Given the description of an element on the screen output the (x, y) to click on. 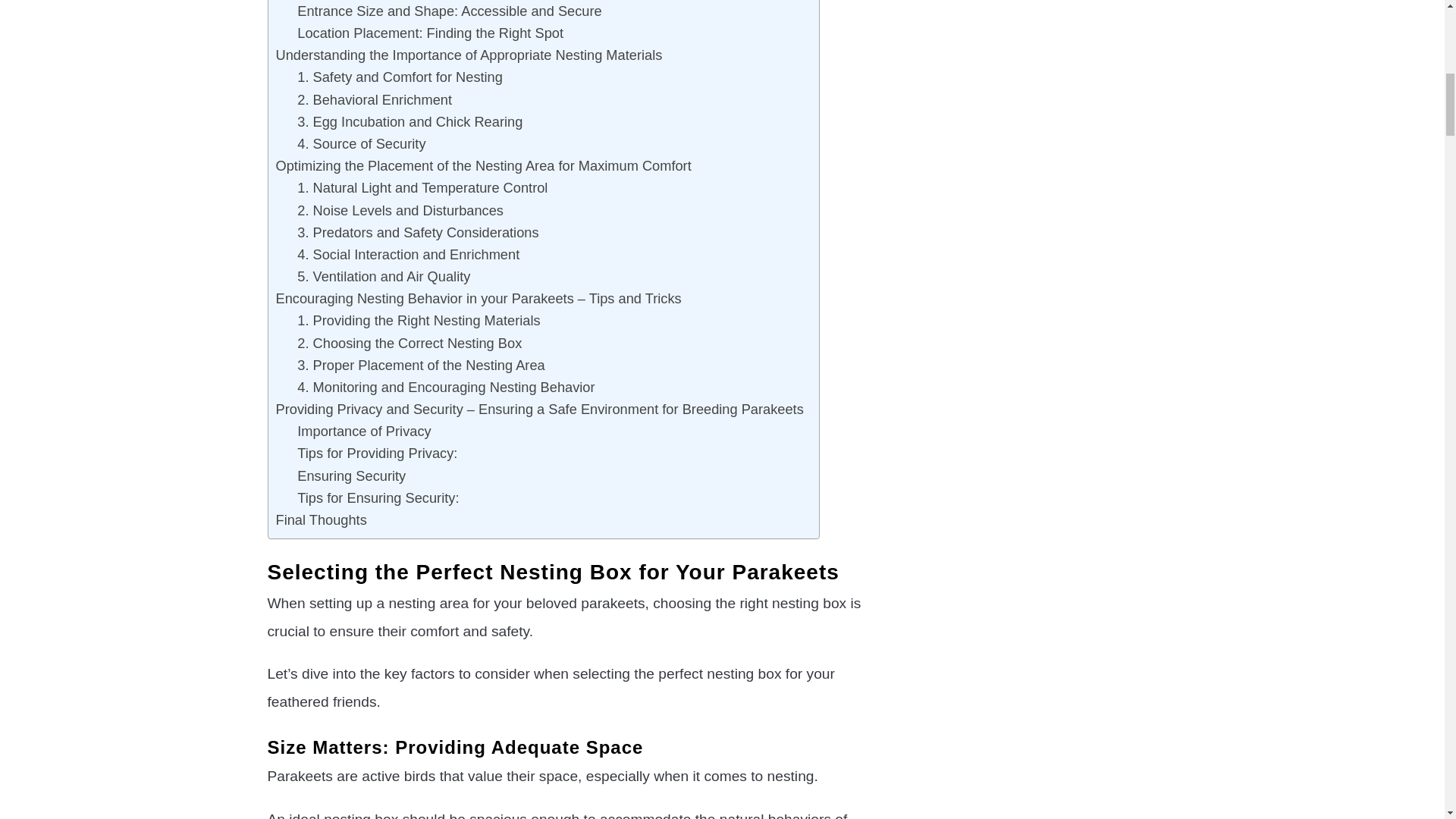
4. Source of Security (361, 143)
1. Safety and Comfort for Nesting (399, 76)
2. Choosing the Correct Nesting Box (409, 342)
2. Behavioral Enrichment (374, 99)
3. Egg Incubation and Chick Rearing (409, 121)
2. Noise Levels and Disturbances (400, 209)
Location Placement: Finding the Right Spot (430, 33)
2. Noise Levels and Disturbances (400, 209)
Entrance Size and Shape: Accessible and Secure (449, 11)
